Given the description of an element on the screen output the (x, y) to click on. 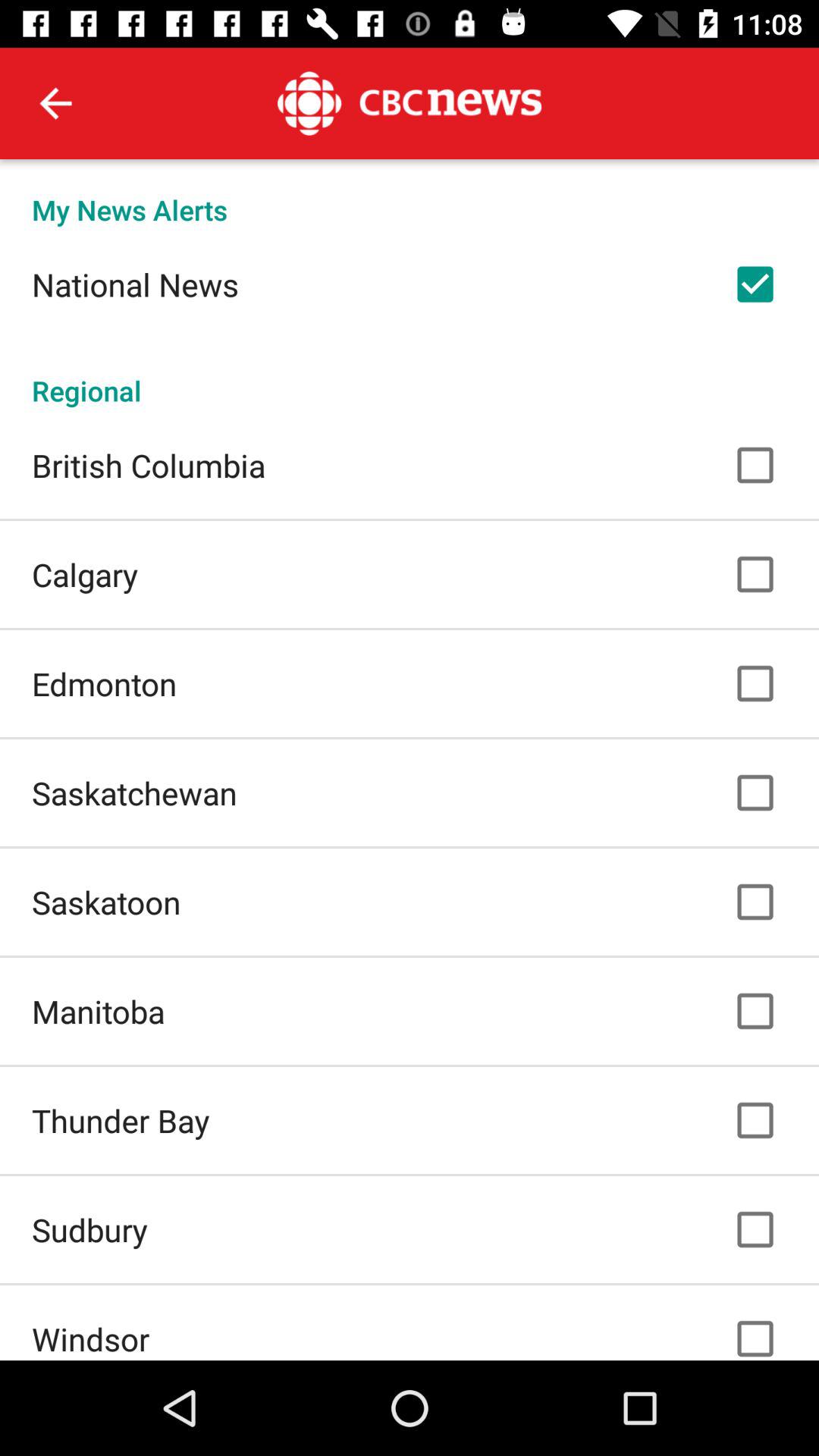
scroll until the regional (409, 374)
